Given the description of an element on the screen output the (x, y) to click on. 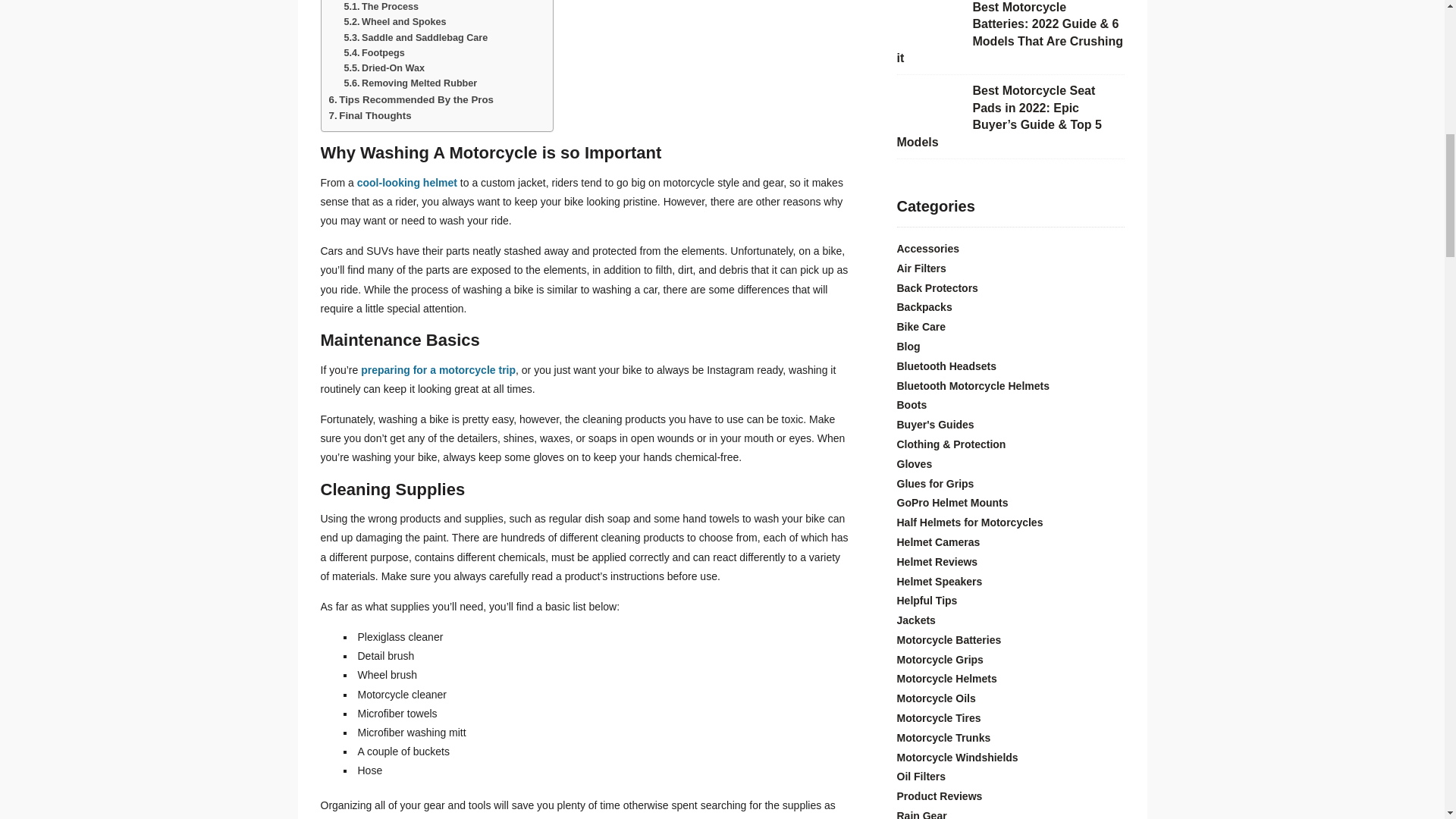
Final Thoughts (370, 115)
Removing Melted Rubber (410, 82)
Dried-On Wax (384, 68)
Footpegs (373, 52)
Saddle and Saddlebag Care (415, 37)
Wheel and Spokes (394, 21)
Tips Recommended By the Pros (411, 99)
The Process (381, 6)
